Given the description of an element on the screen output the (x, y) to click on. 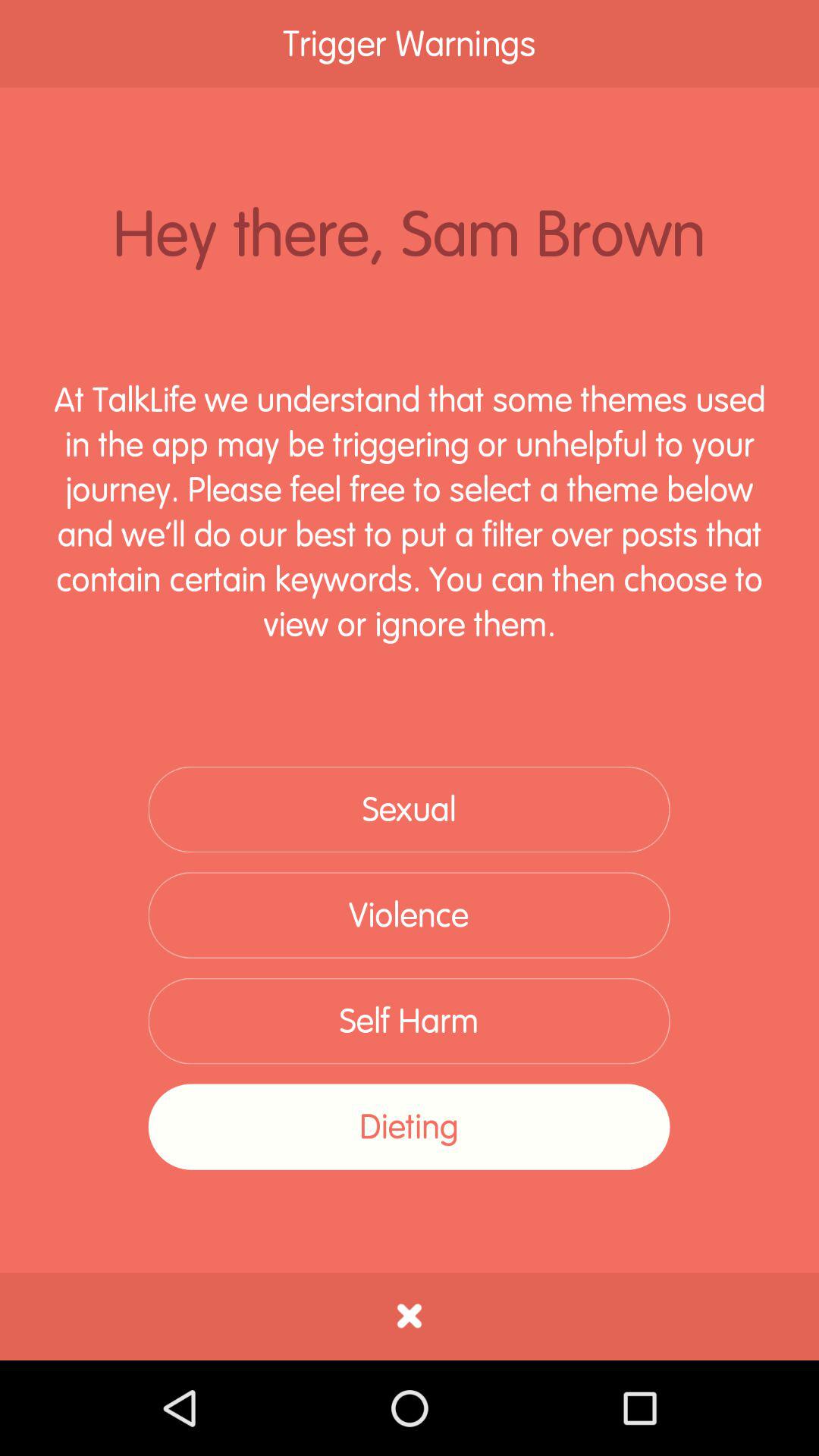
turn off the sexual item (408, 809)
